Given the description of an element on the screen output the (x, y) to click on. 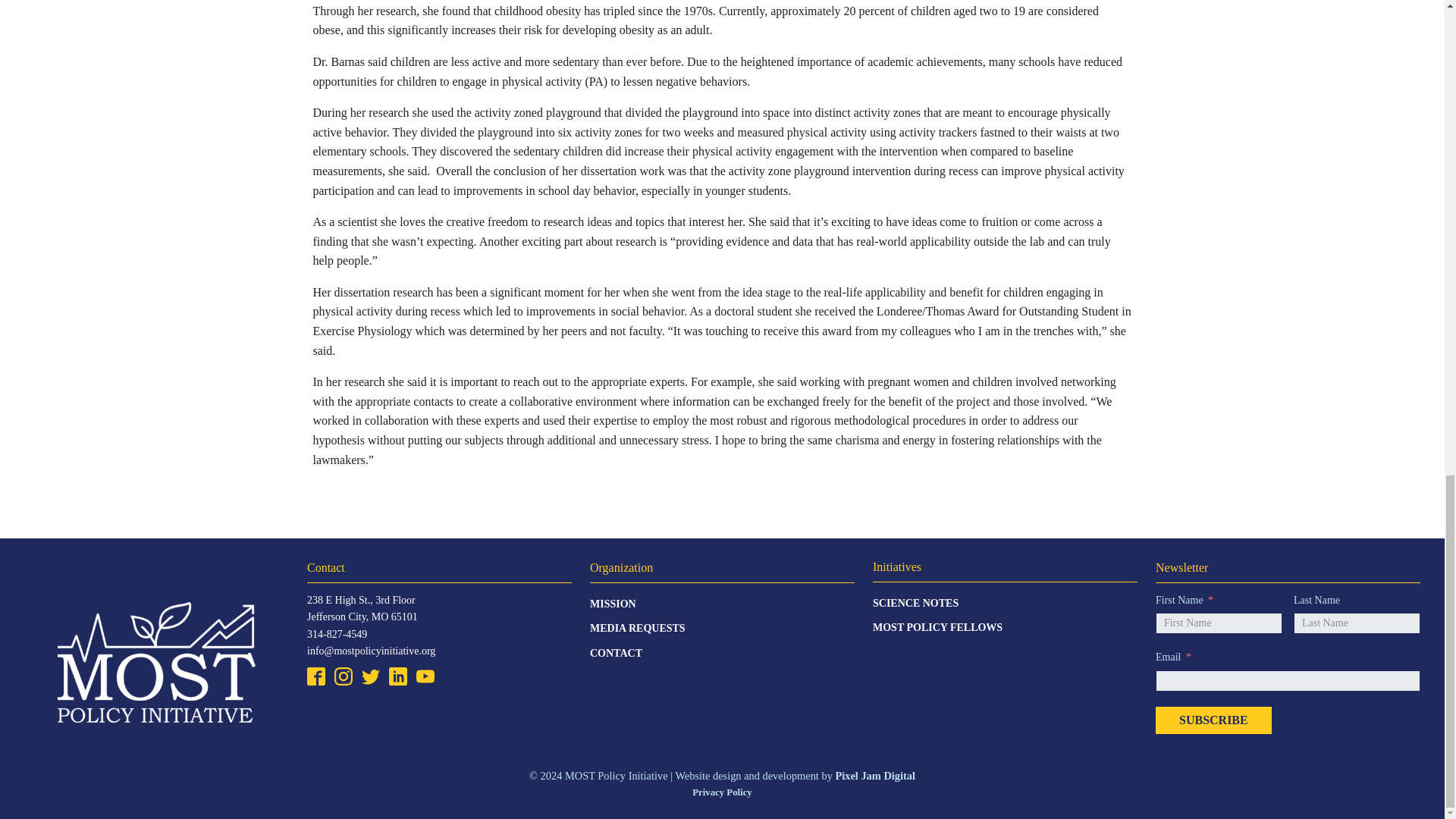
Website design and development by Pixel Jam Digital (874, 775)
